Given the description of an element on the screen output the (x, y) to click on. 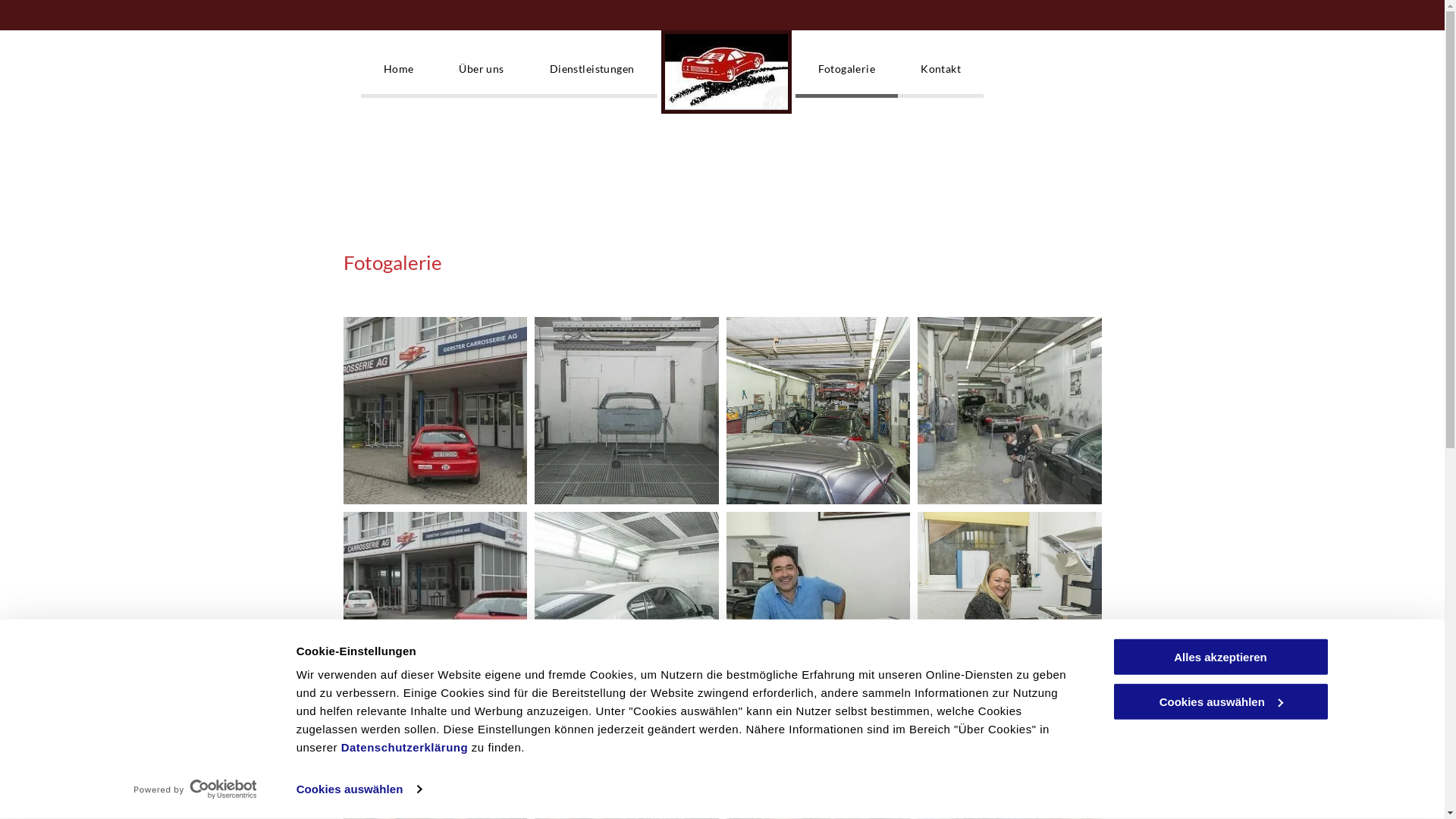
Dienstleistungen Element type: text (592, 72)
Fotogalerie Element type: text (845, 72)
Gerster Carrosserie AG Element type: hover (1009, 605)
Gerster Carrosserie AG Element type: hover (434, 605)
Gerster Carrosserie AG Element type: hover (626, 410)
Gerster Carrosserie AG Element type: hover (818, 605)
Gerster Carrosserie AG Element type: hover (626, 605)
Gerster Carrosserie AG Element type: hover (434, 410)
Gerster Carrosserie AG Element type: hover (1009, 410)
Home Element type: text (398, 72)
Gerster Carrosserie AG Element type: hover (818, 410)
Kontakt Element type: text (940, 72)
Alles akzeptieren Element type: text (1219, 656)
